Given the description of an element on the screen output the (x, y) to click on. 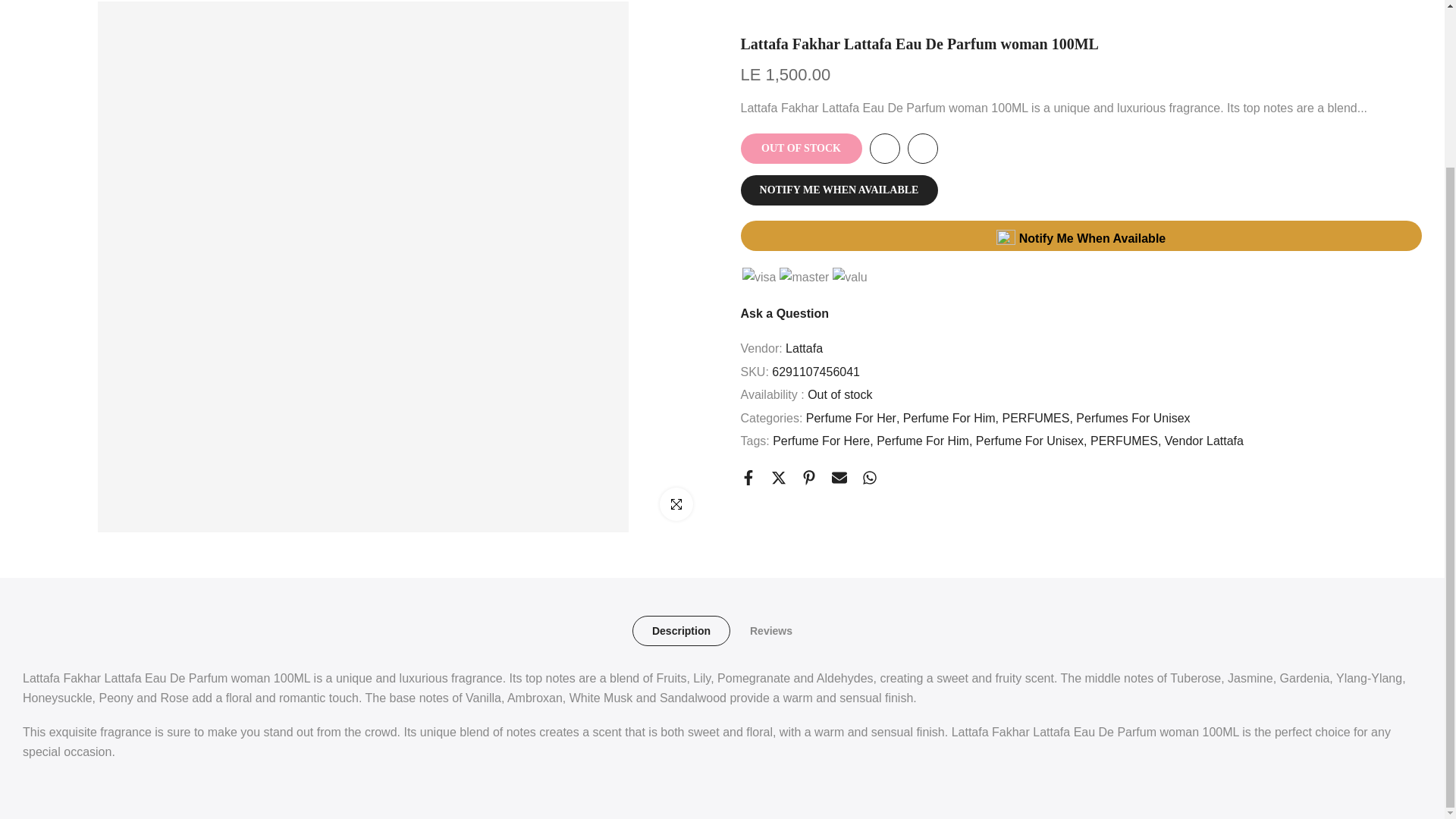
OUT OF STOCK (800, 113)
NOTIFY ME WHEN AVAILABLE (838, 155)
Notify Me When Available (1080, 200)
